Given the description of an element on the screen output the (x, y) to click on. 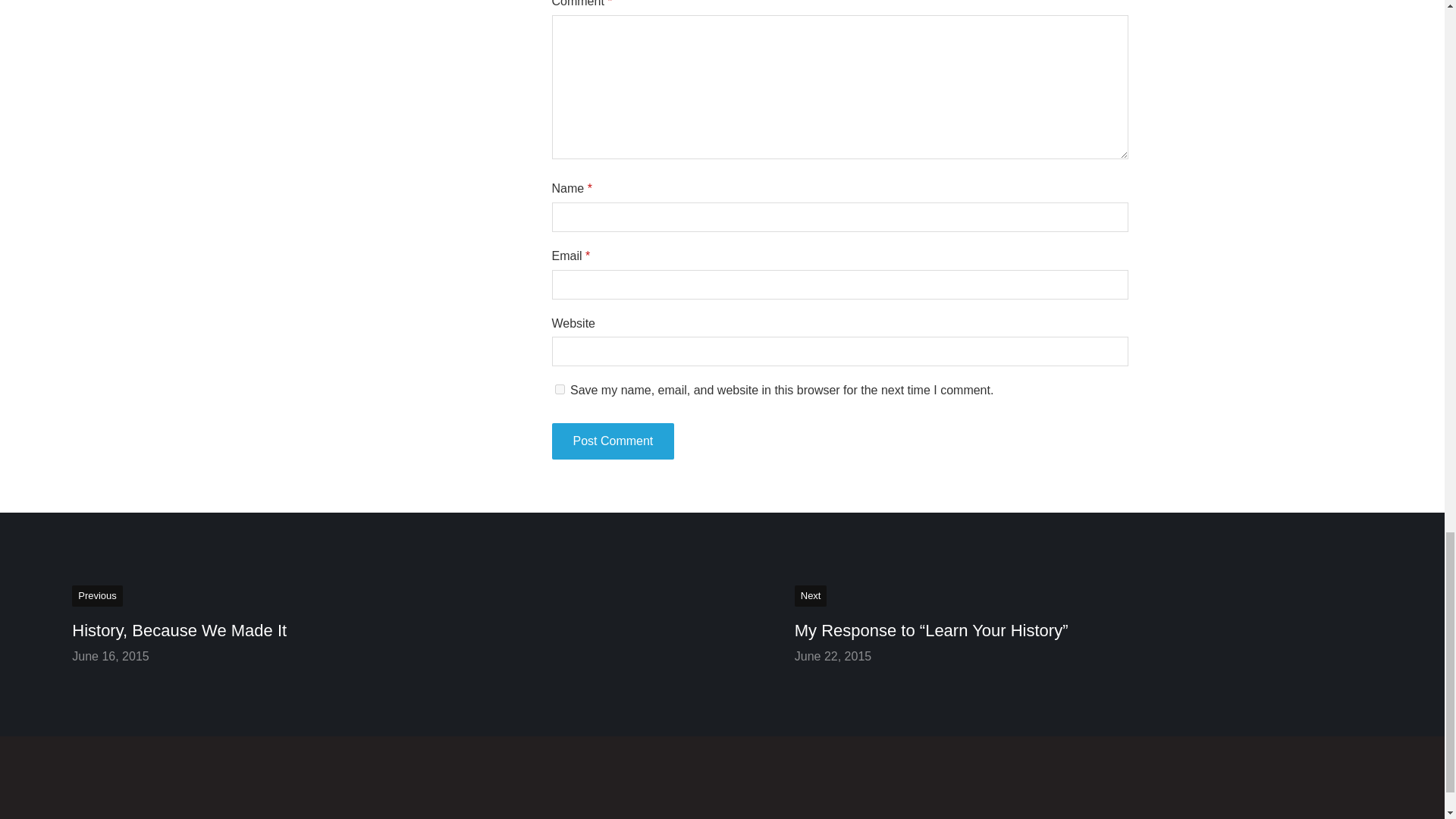
yes (559, 388)
Post Comment (613, 441)
Post Comment (613, 441)
